Given the description of an element on the screen output the (x, y) to click on. 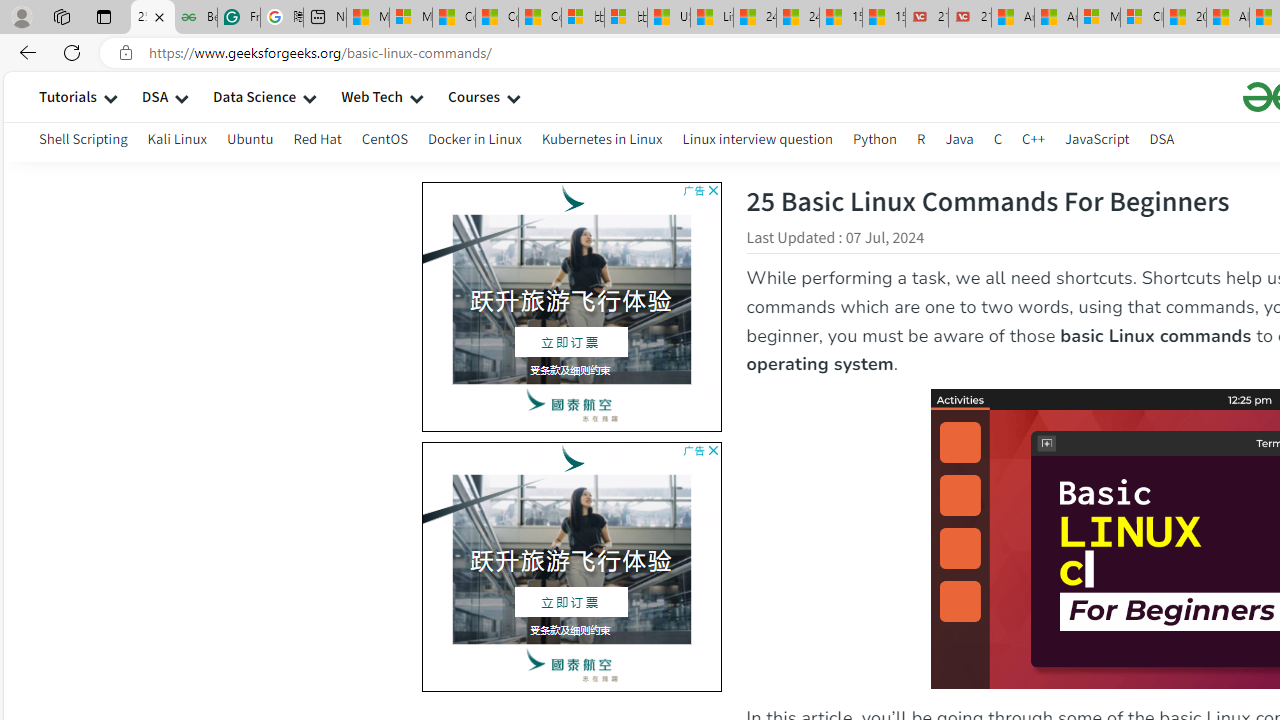
DSA (1162, 142)
15 Ways Modern Life Contradicts the Teachings of Jesus (883, 17)
Courses (474, 96)
Tutorials (67, 96)
Red Hat (317, 142)
Docker in Linux (474, 142)
Docker in Linux (474, 138)
Data Science (254, 96)
AutomationID: gradient4 (275, 561)
20 Ways to Boost Your Protein Intake at Every Meal (1184, 17)
